Given the description of an element on the screen output the (x, y) to click on. 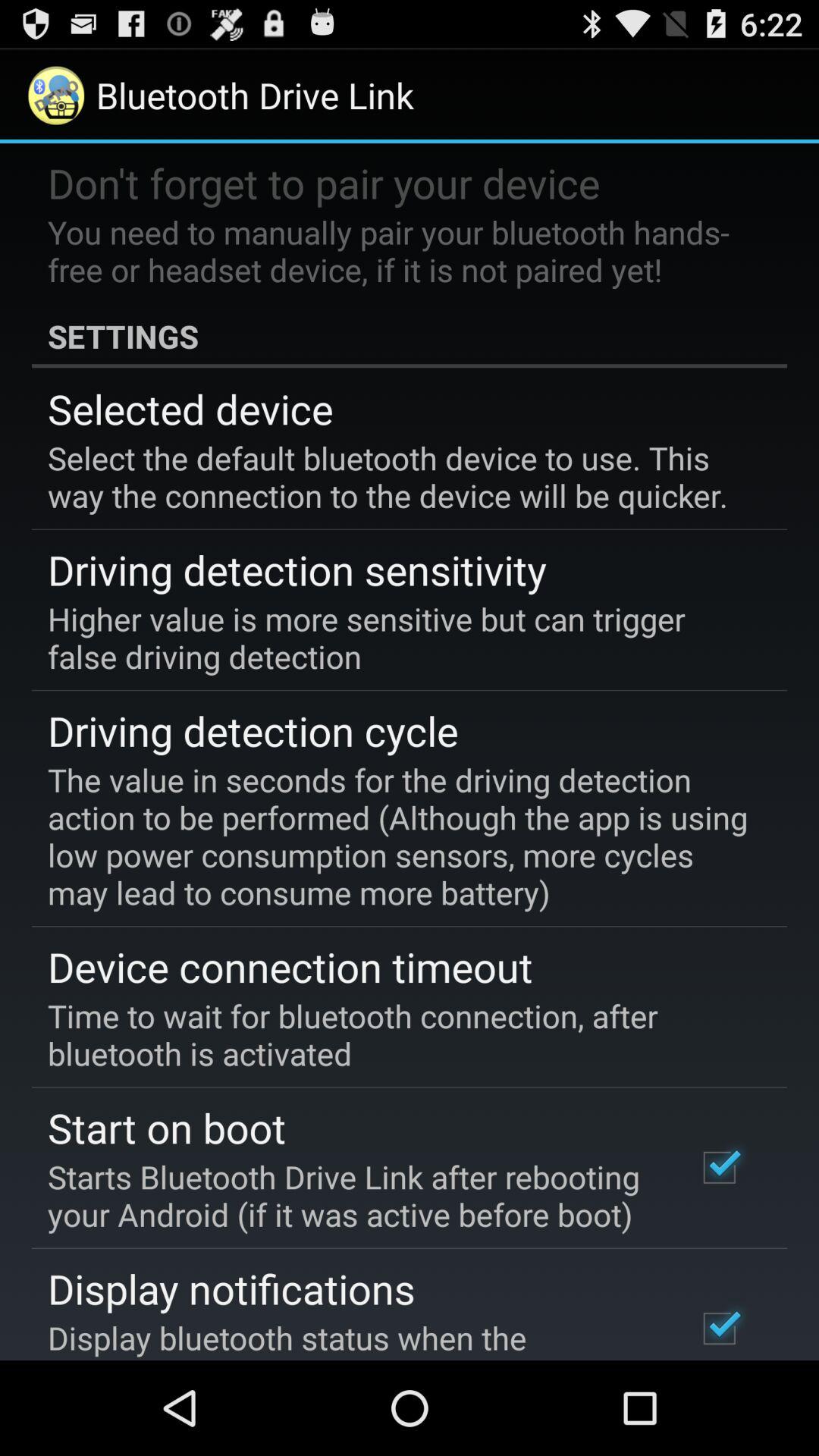
click the app below selected device item (399, 476)
